Given the description of an element on the screen output the (x, y) to click on. 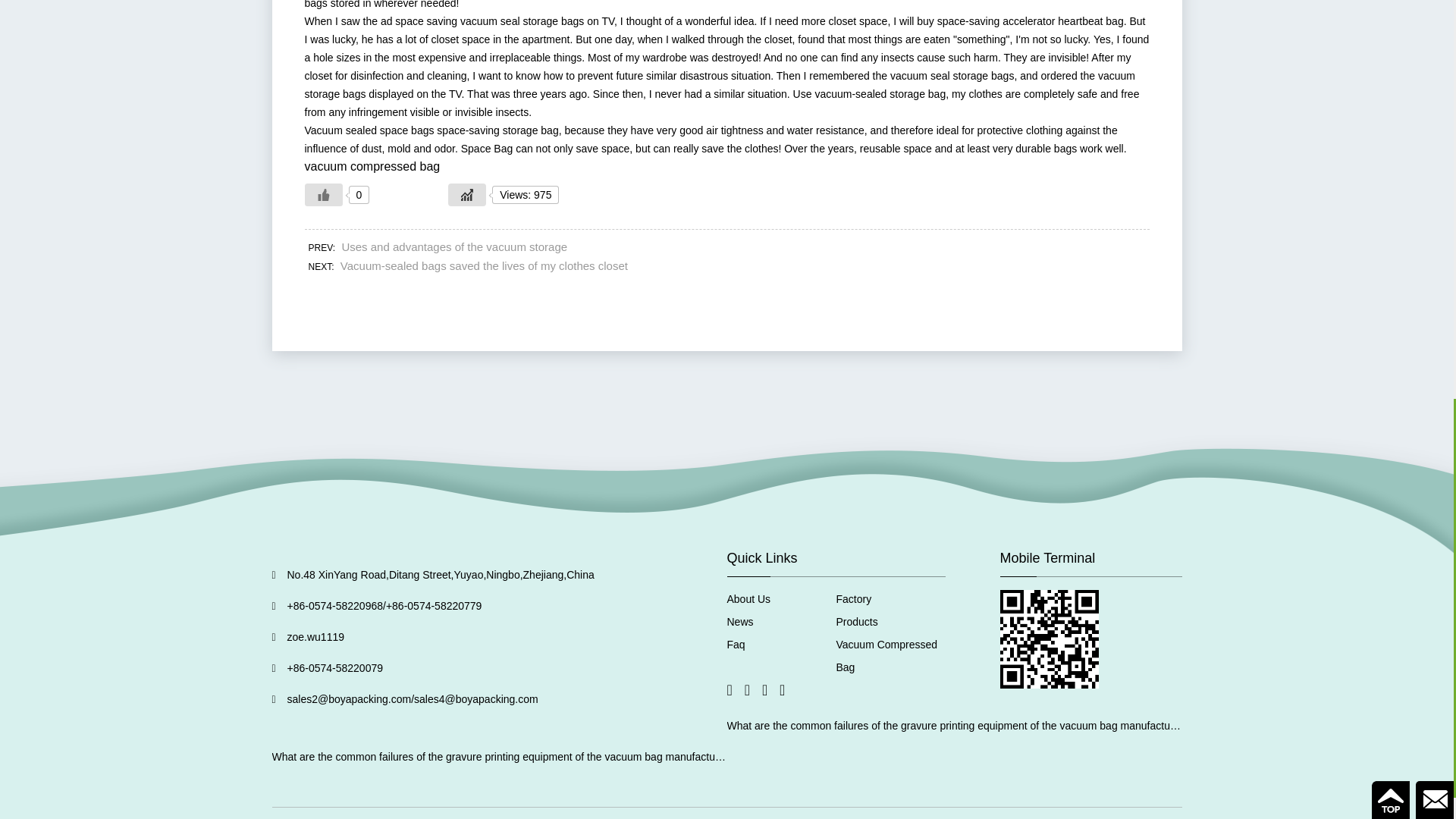
Vacuum-sealed bags saved the lives of my clothes closet (483, 265)
vacuum compressed bag (372, 165)
Products (856, 621)
Vacuum Compressed Bag (886, 655)
zoe.wu1119 (314, 636)
No.48 XinYang Road,Ditang Street,Yuyao,Ningbo,Zhejiang,China (440, 574)
Uses and advantages of the vacuum storage (453, 246)
Factory (852, 598)
Faq (735, 644)
About Us (748, 598)
News (739, 621)
